Given the description of an element on the screen output the (x, y) to click on. 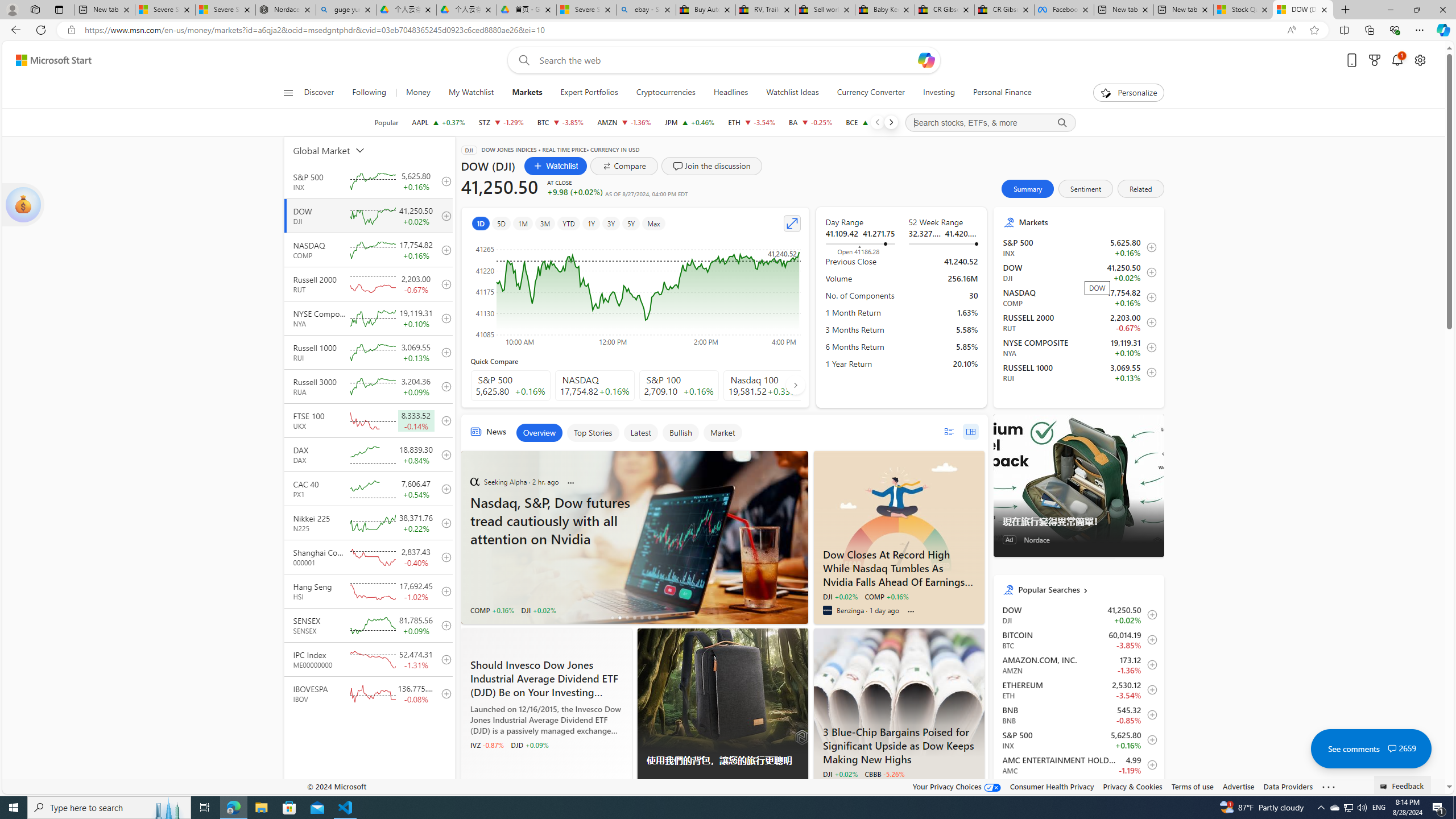
Class: feedback_link_icon-DS-EntryPoint1-1 (1384, 786)
AdChoices (798, 789)
See comments 2659 (1370, 748)
ADA Cardano decrease 0.36 -0.00 -1.26% itemundefined (1078, 789)
BCE BCE Inc increase 35.22 +0.08 +0.23% (869, 122)
Cryptocurrencies (665, 92)
